Given the description of an element on the screen output the (x, y) to click on. 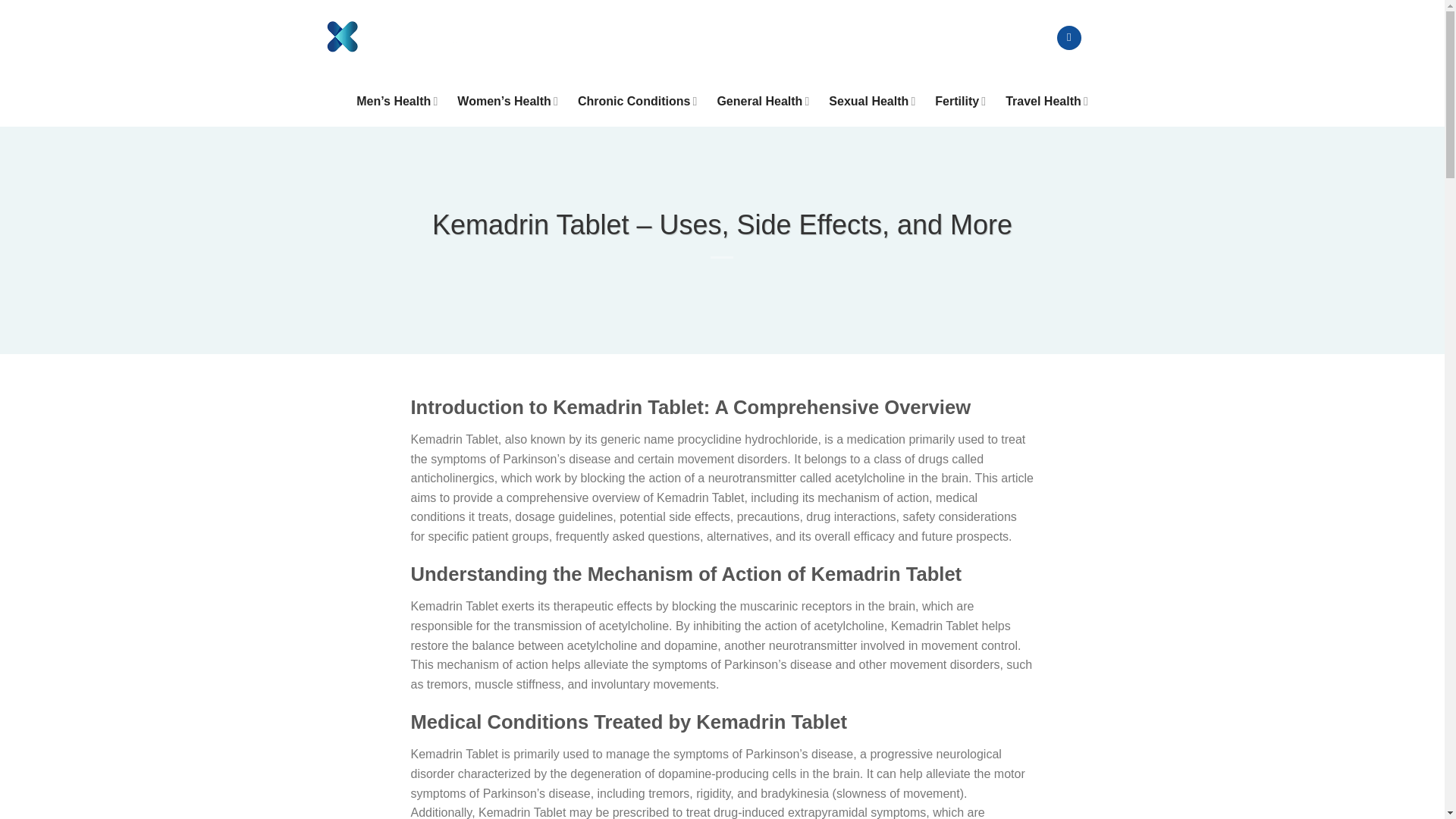
MedsBase.com - Affordable Online Pharmacy (400, 37)
Chronic Conditions (637, 101)
Search (1006, 37)
